Given the description of an element on the screen output the (x, y) to click on. 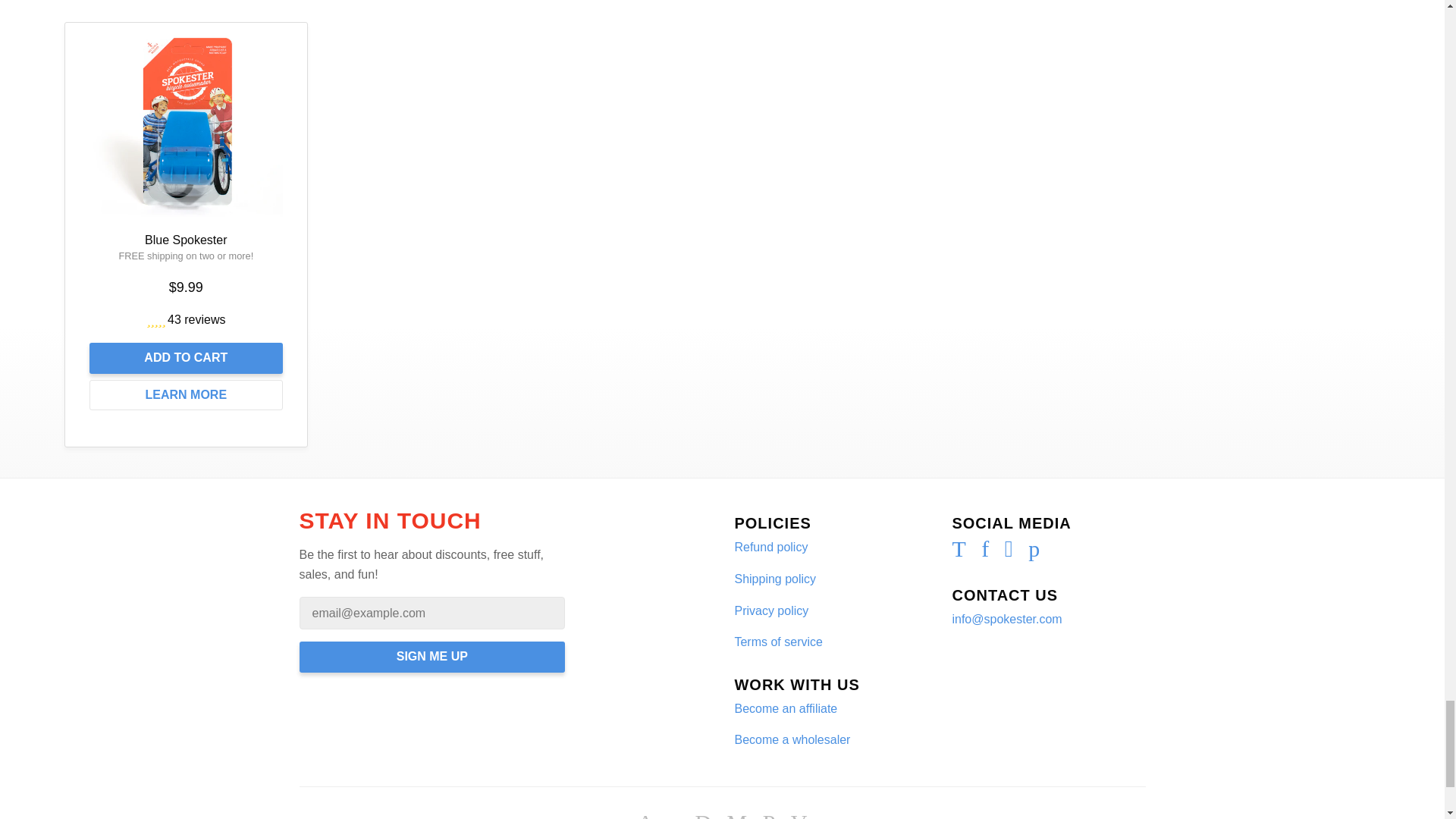
Sign me up (431, 656)
Spokester on Twitter (958, 552)
